Given the description of an element on the screen output the (x, y) to click on. 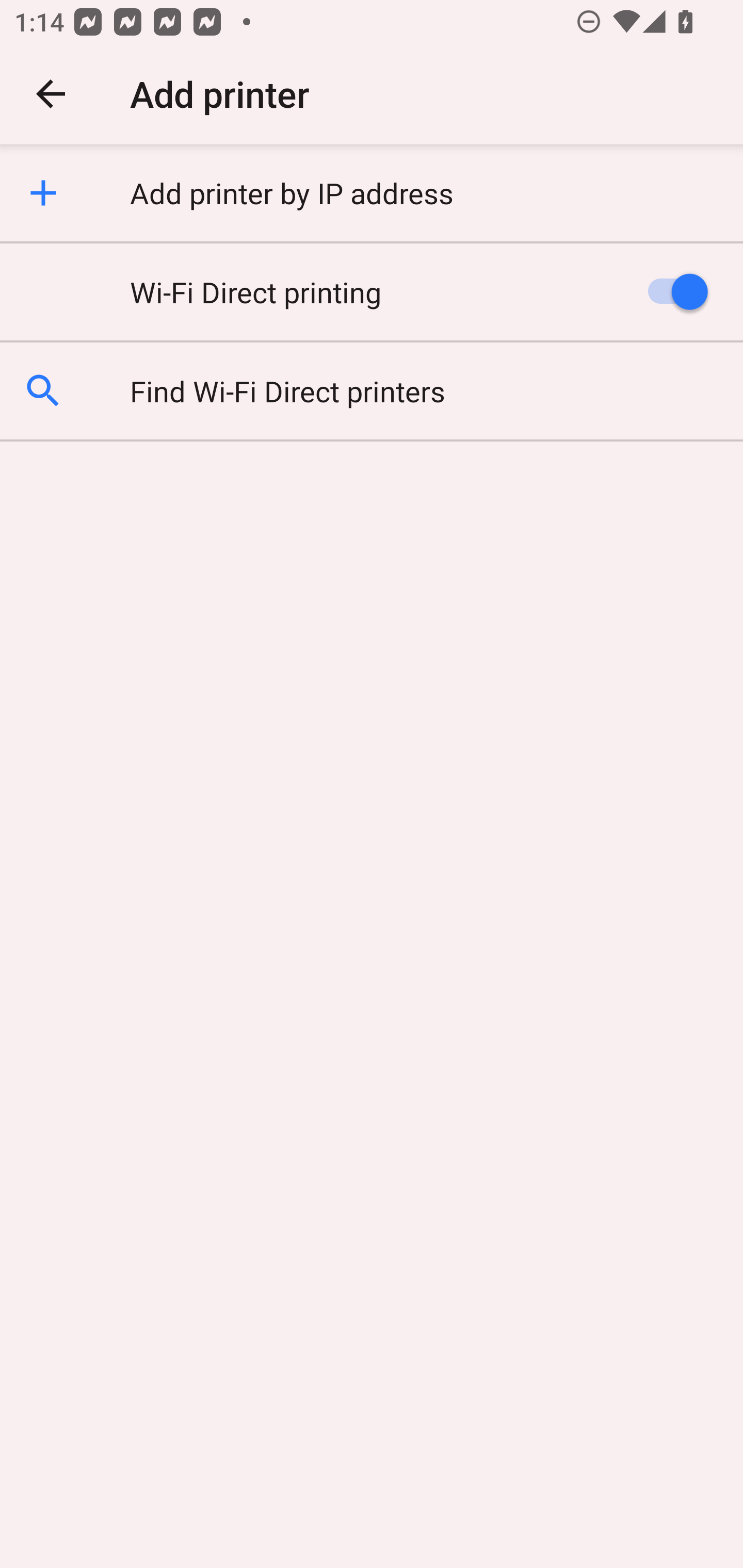
Navigate up (50, 93)
Add printer by IP address (371, 192)
Wi-Fi Direct printing (371, 291)
Find Wi-Fi Direct printers (371, 390)
